Given the description of an element on the screen output the (x, y) to click on. 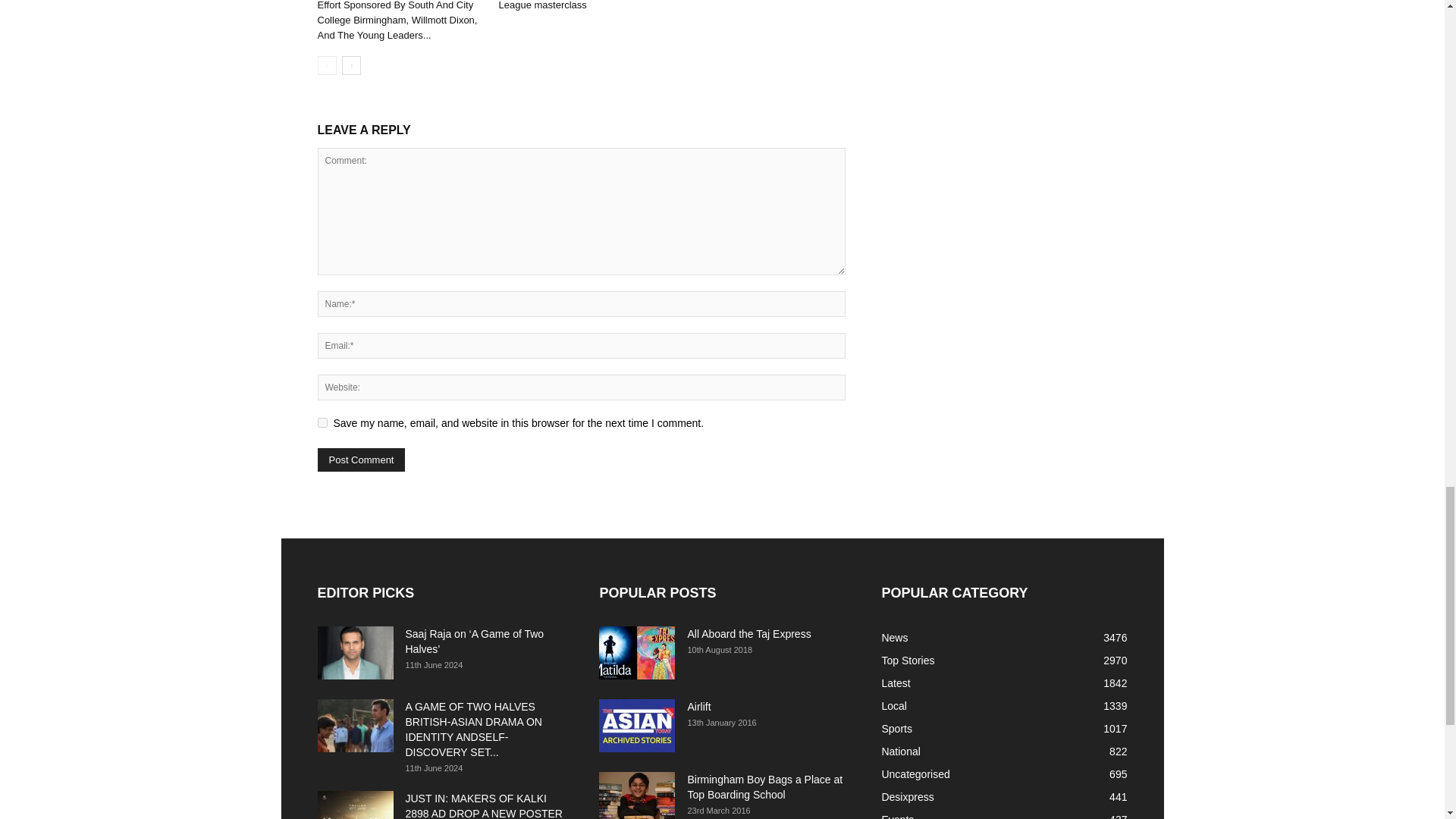
yes (321, 422)
Post Comment (360, 459)
